Given the description of an element on the screen output the (x, y) to click on. 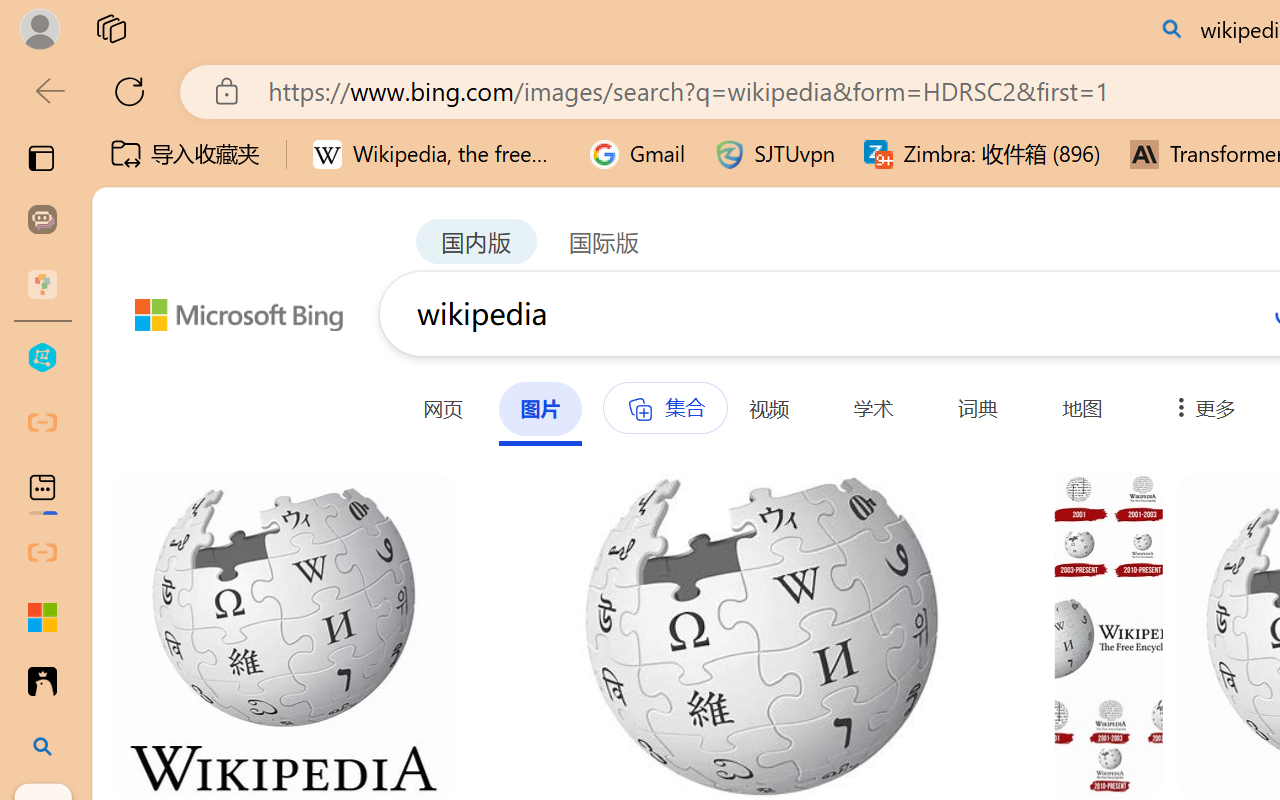
Adjust indents and spacing - Microsoft Support (42, 617)
Class: b_pri_nav_svg (639, 409)
Dropdown Menu (1199, 408)
SJTUvpn (774, 154)
